Given the description of an element on the screen output the (x, y) to click on. 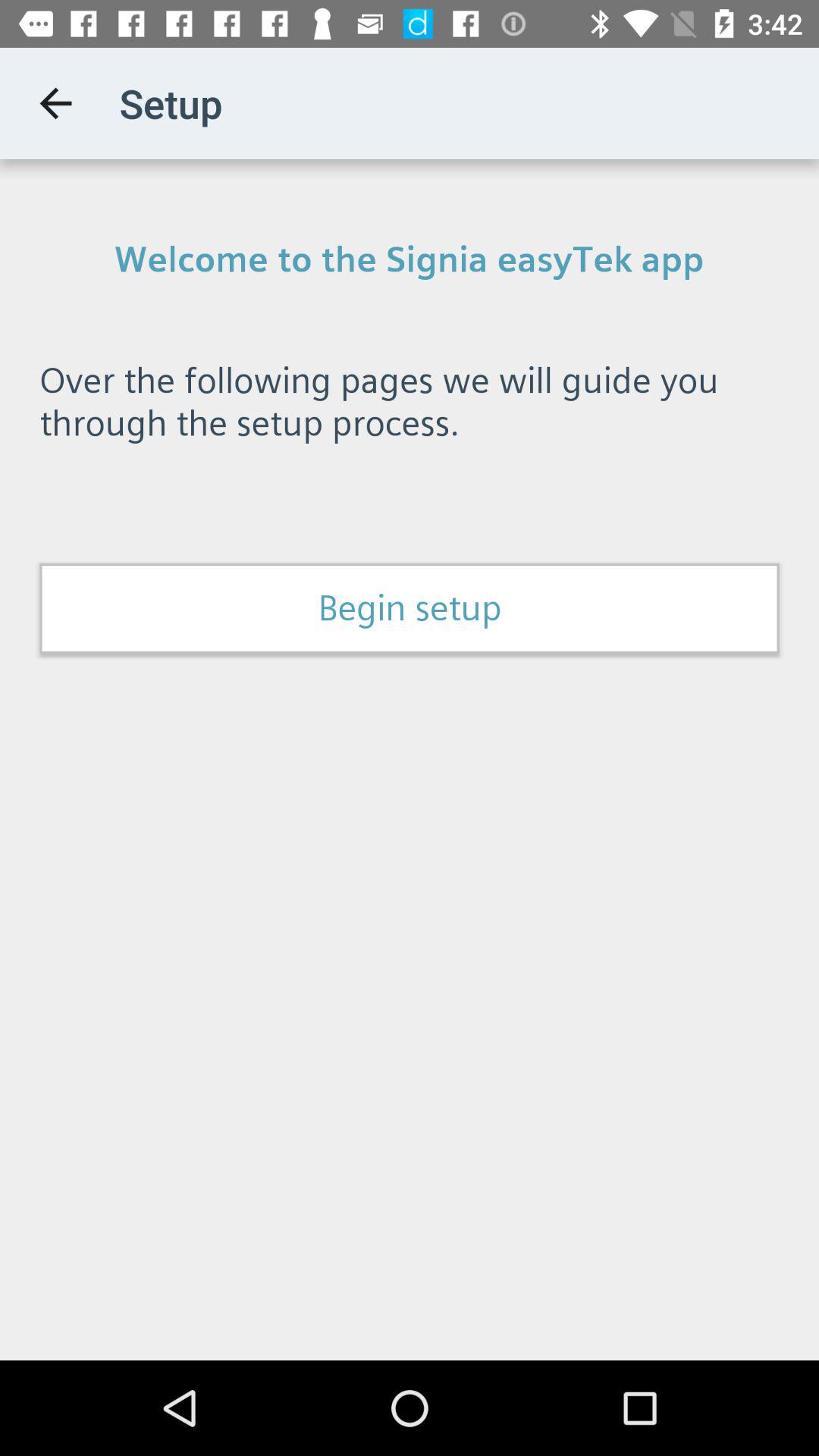
tap the begin setup item (409, 608)
